Given the description of an element on the screen output the (x, y) to click on. 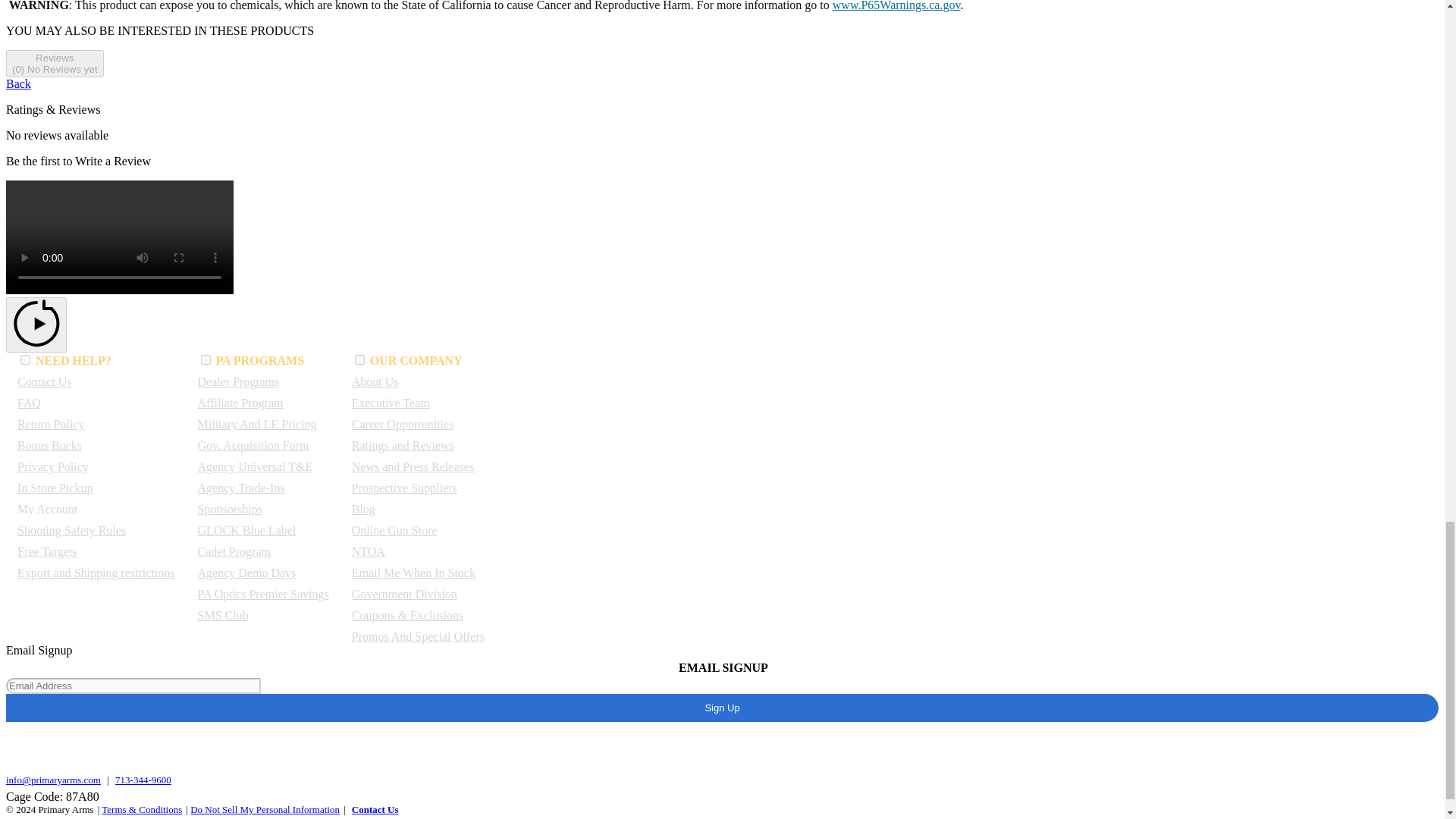
on (360, 359)
In Store Pickup (55, 487)
Replay (35, 324)
Back (17, 83)
Privacy Policy (52, 466)
My Account (47, 508)
on (205, 359)
Shooting Safety Rules (71, 530)
on (25, 359)
Return Policy (50, 423)
Free Targets (47, 551)
Contact Us (44, 381)
Bonus Bucks (49, 445)
www.P65Warnings.ca.gov (896, 5)
FAQ (28, 402)
